Given the description of an element on the screen output the (x, y) to click on. 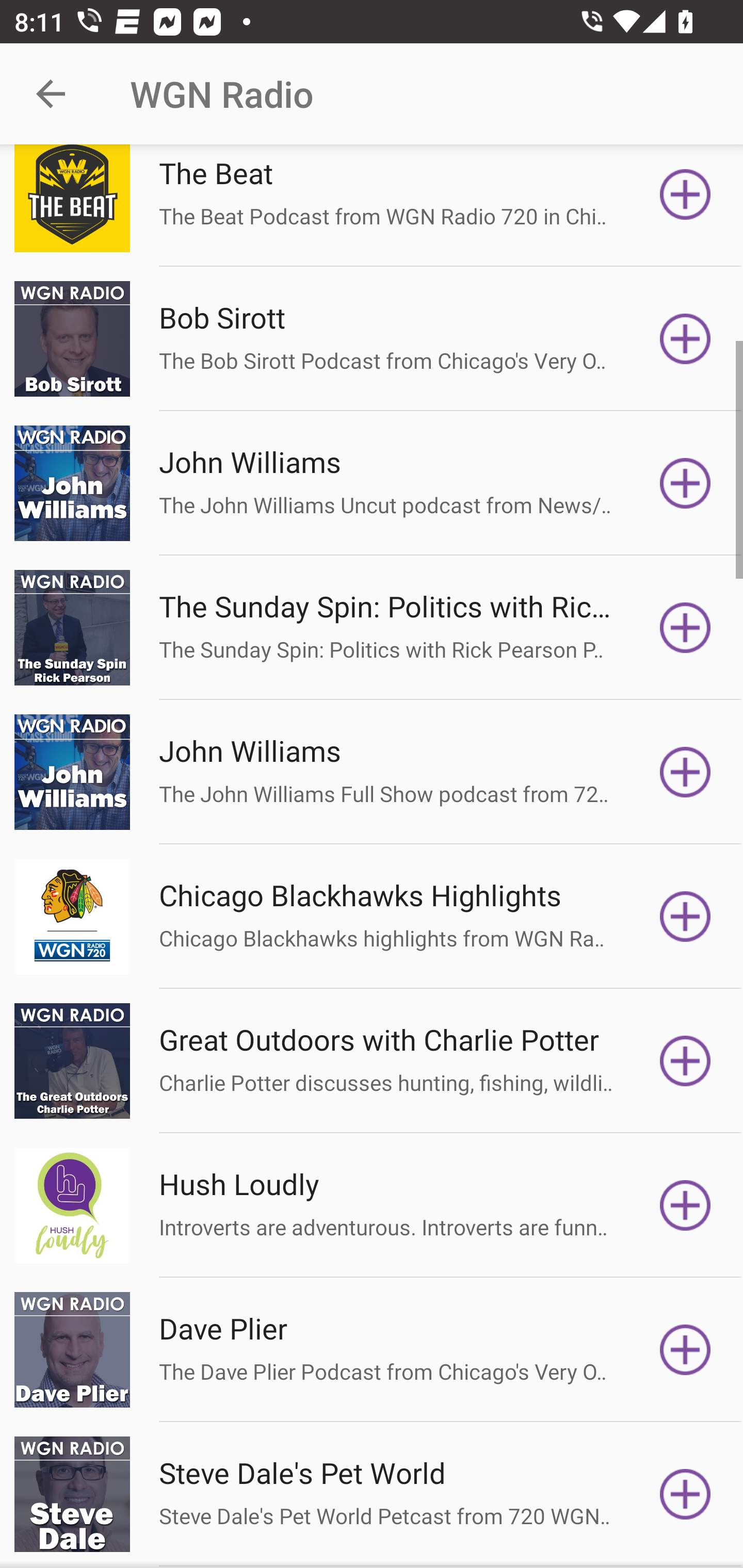
Navigate up (50, 93)
Subscribe (685, 198)
Subscribe (685, 338)
Subscribe (685, 482)
Subscribe (685, 627)
Subscribe (685, 772)
Subscribe (685, 916)
Subscribe (685, 1060)
Subscribe (685, 1205)
Subscribe (685, 1350)
Subscribe (685, 1494)
